Given the description of an element on the screen output the (x, y) to click on. 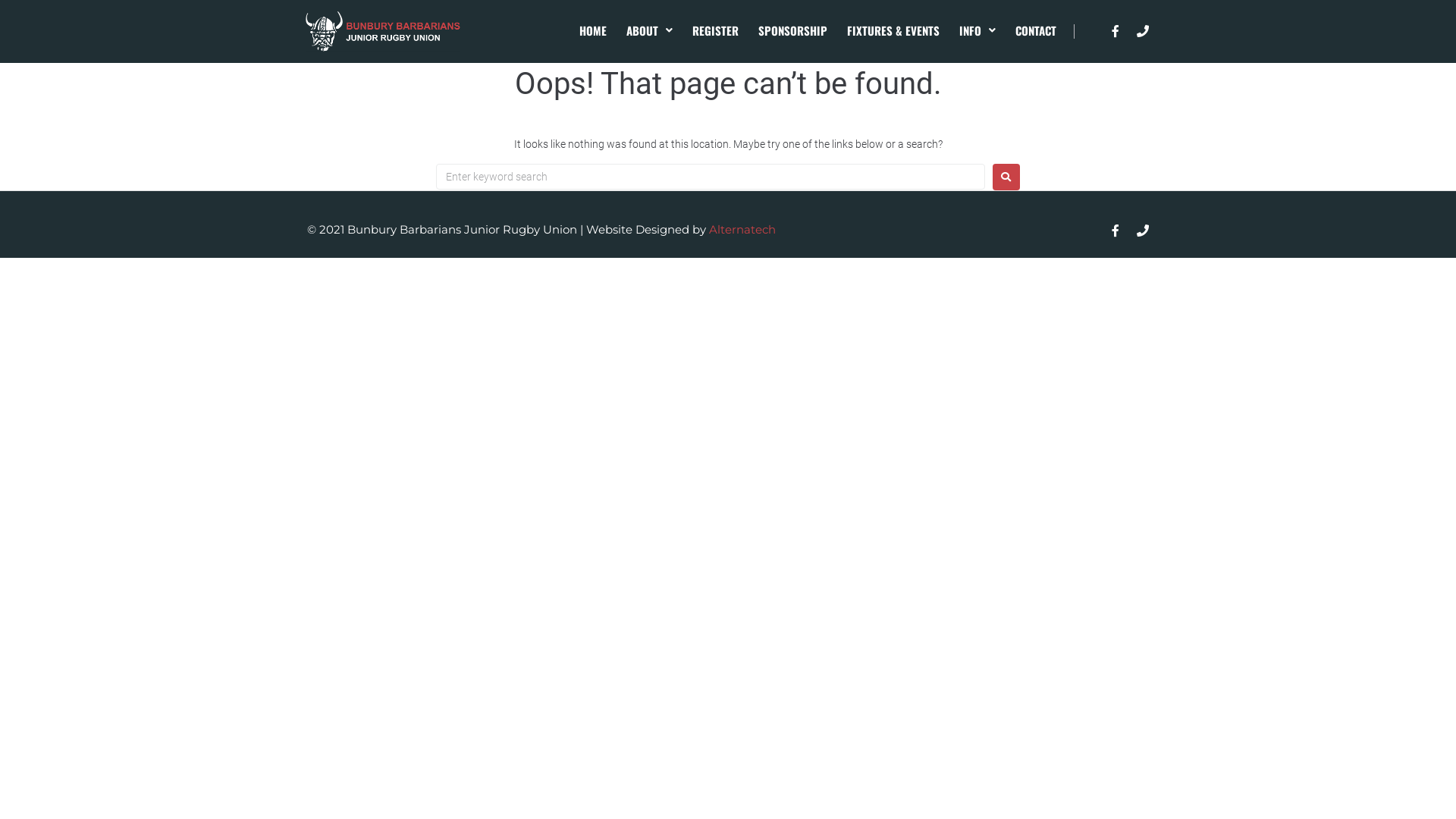
INFO Element type: text (977, 30)
FIXTURES & EVENTS Element type: text (893, 30)
REGISTER Element type: text (715, 30)
Alternatech Element type: text (742, 229)
CONTACT Element type: text (1035, 30)
HOME Element type: text (592, 30)
ABOUT Element type: text (649, 30)
SPONSORSHIP Element type: text (792, 30)
